Given the description of an element on the screen output the (x, y) to click on. 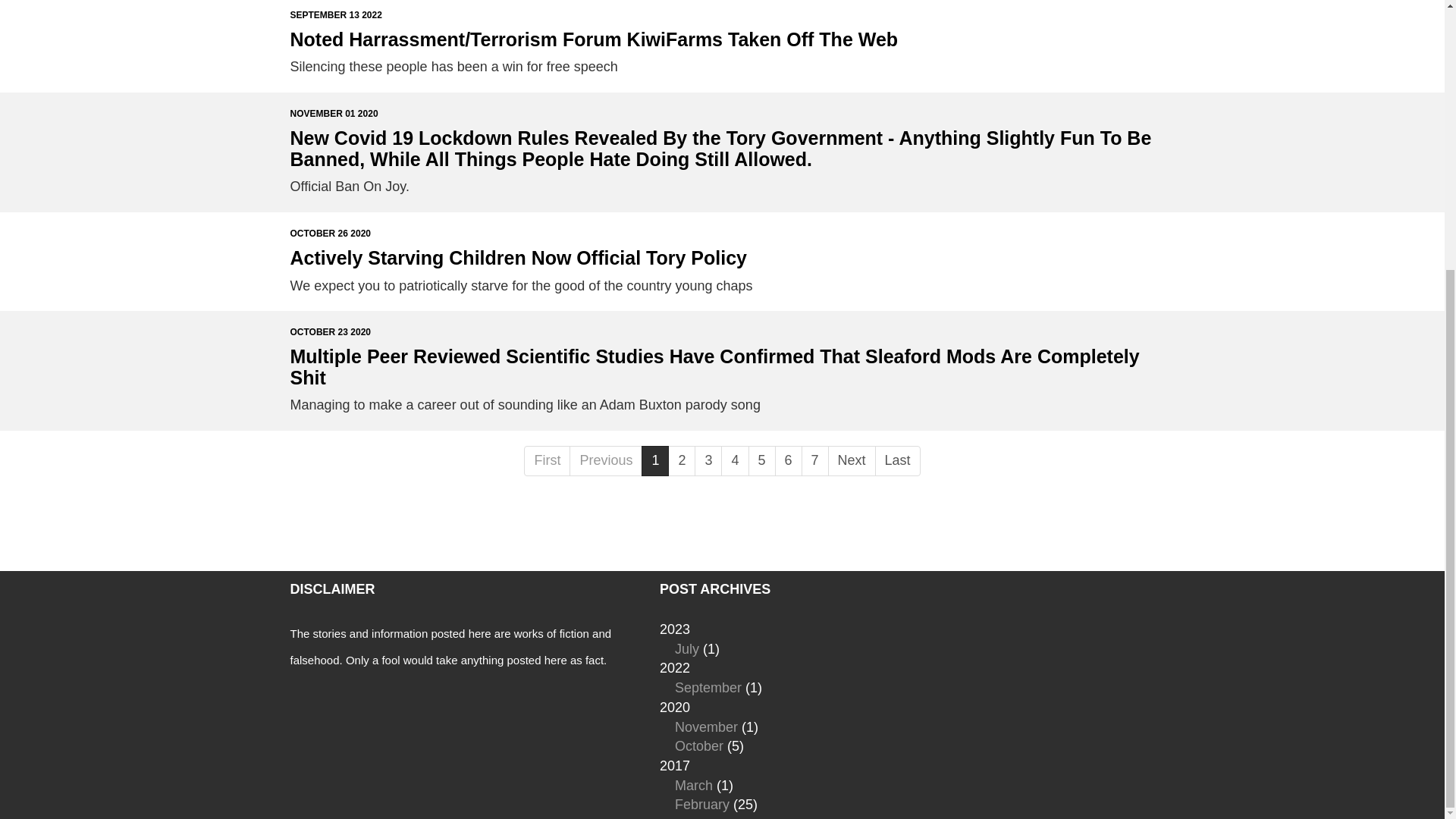
2 (681, 460)
October (699, 745)
Next (852, 460)
5 (761, 460)
3 (708, 460)
7 (815, 460)
November (706, 726)
First (547, 460)
March (694, 785)
September (708, 687)
